Given the description of an element on the screen output the (x, y) to click on. 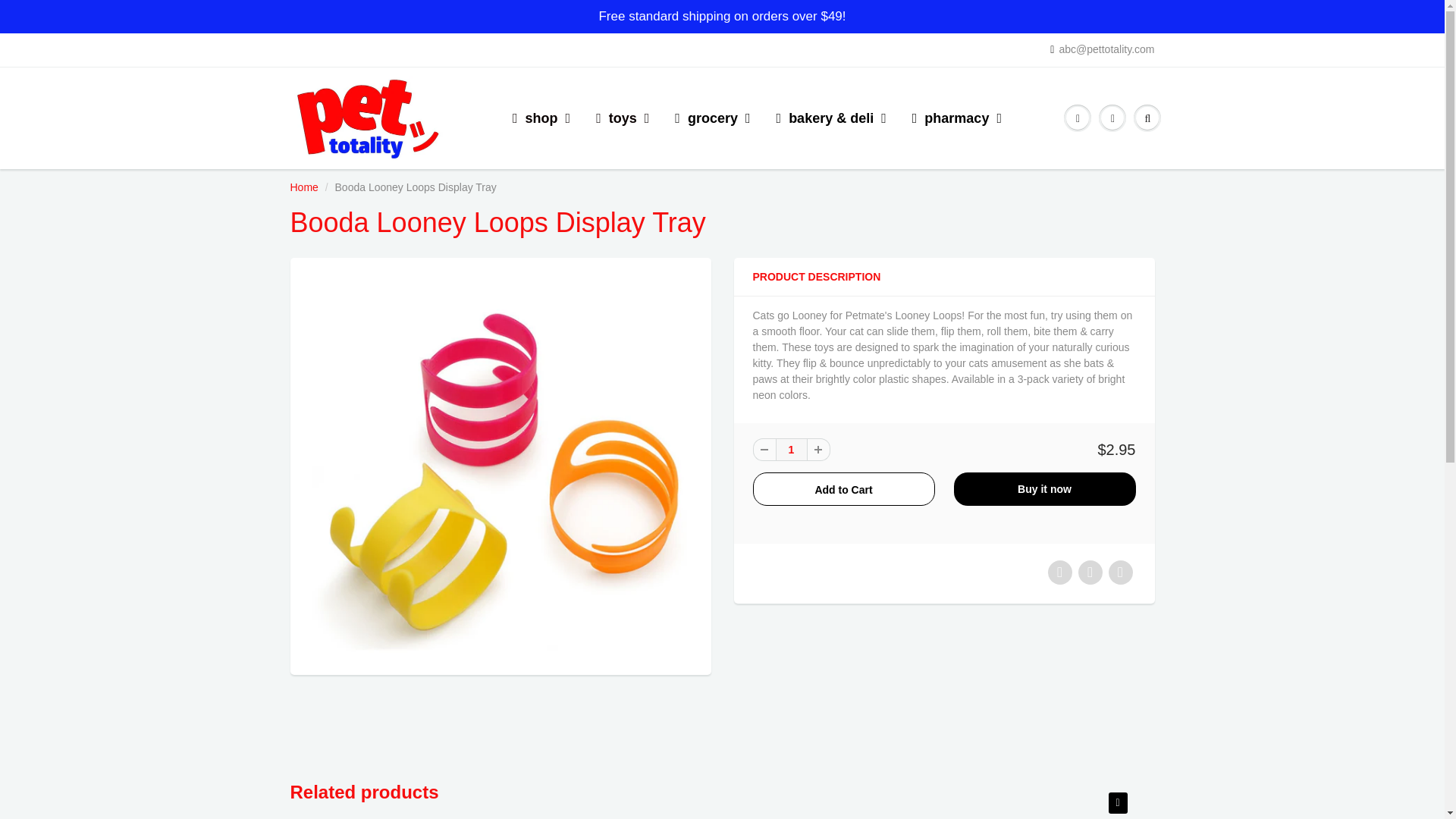
Add to Cart (843, 489)
Home (303, 186)
shop (541, 118)
1 (790, 449)
